Given the description of an element on the screen output the (x, y) to click on. 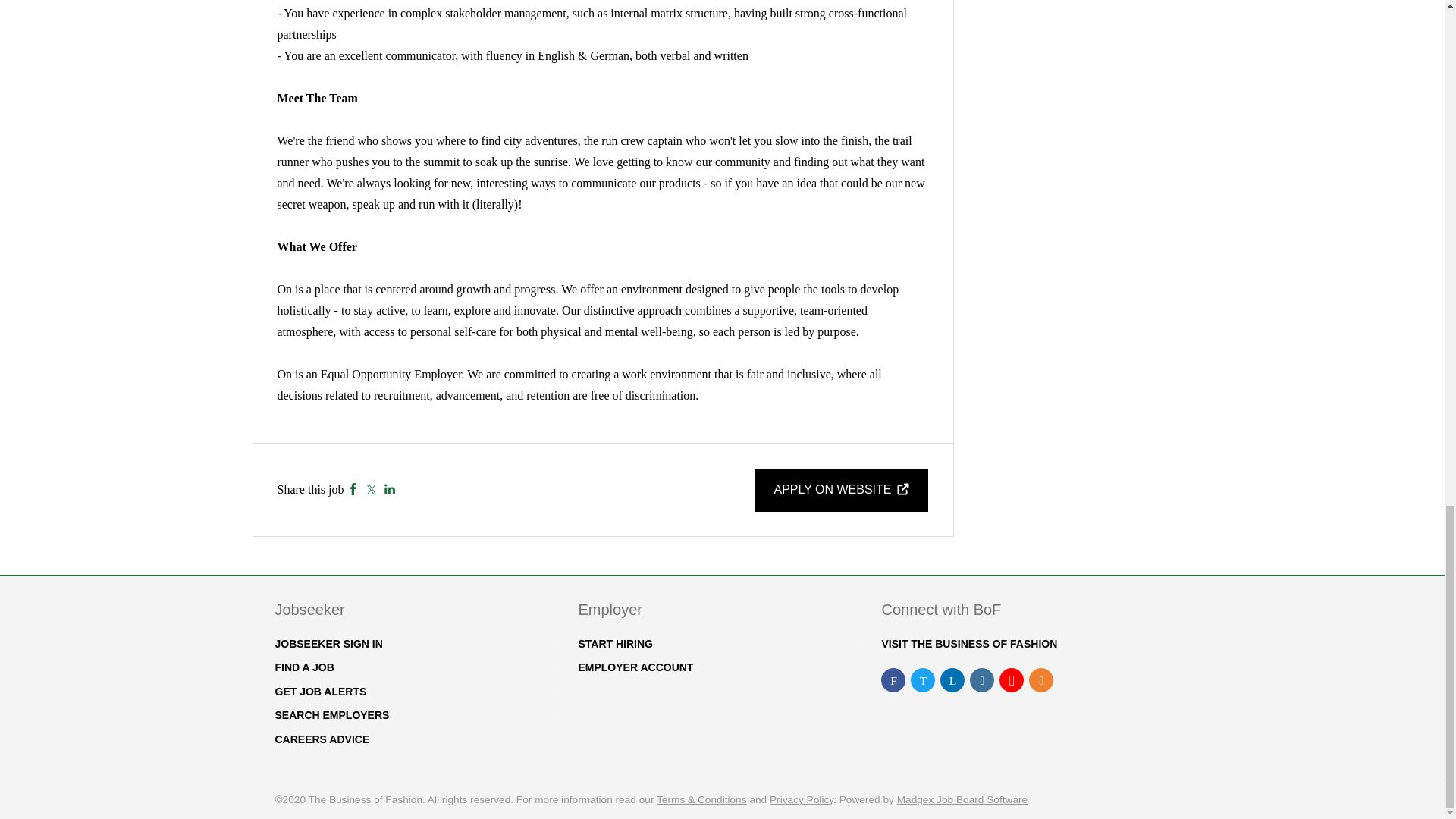
Twitter (371, 489)
JOBSEEKER SIGN IN (328, 644)
Facebook (353, 489)
LinkedIn (390, 489)
